Given the description of an element on the screen output the (x, y) to click on. 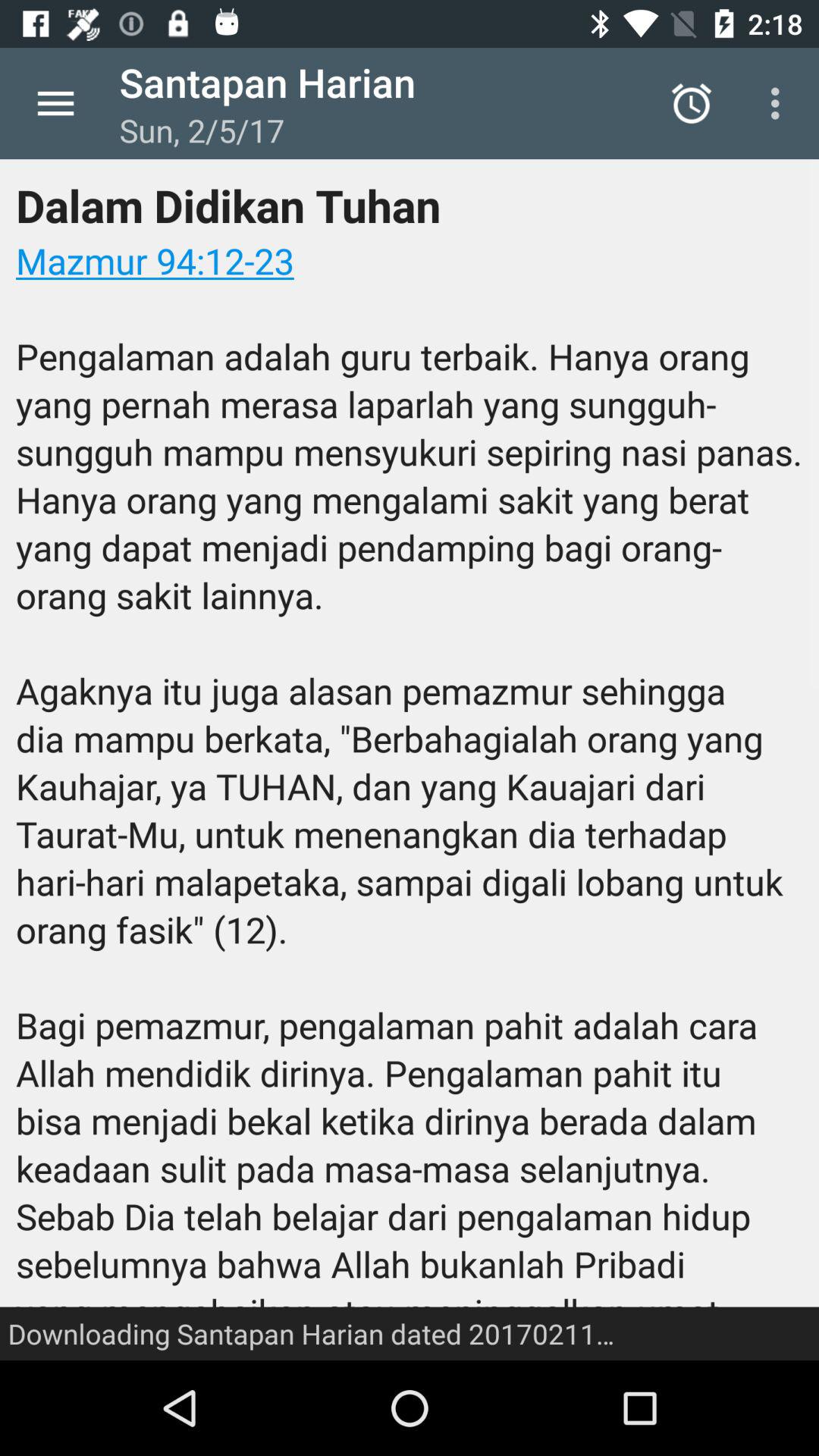
turn on icon above the dalam didikan tuhan icon (691, 103)
